Given the description of an element on the screen output the (x, y) to click on. 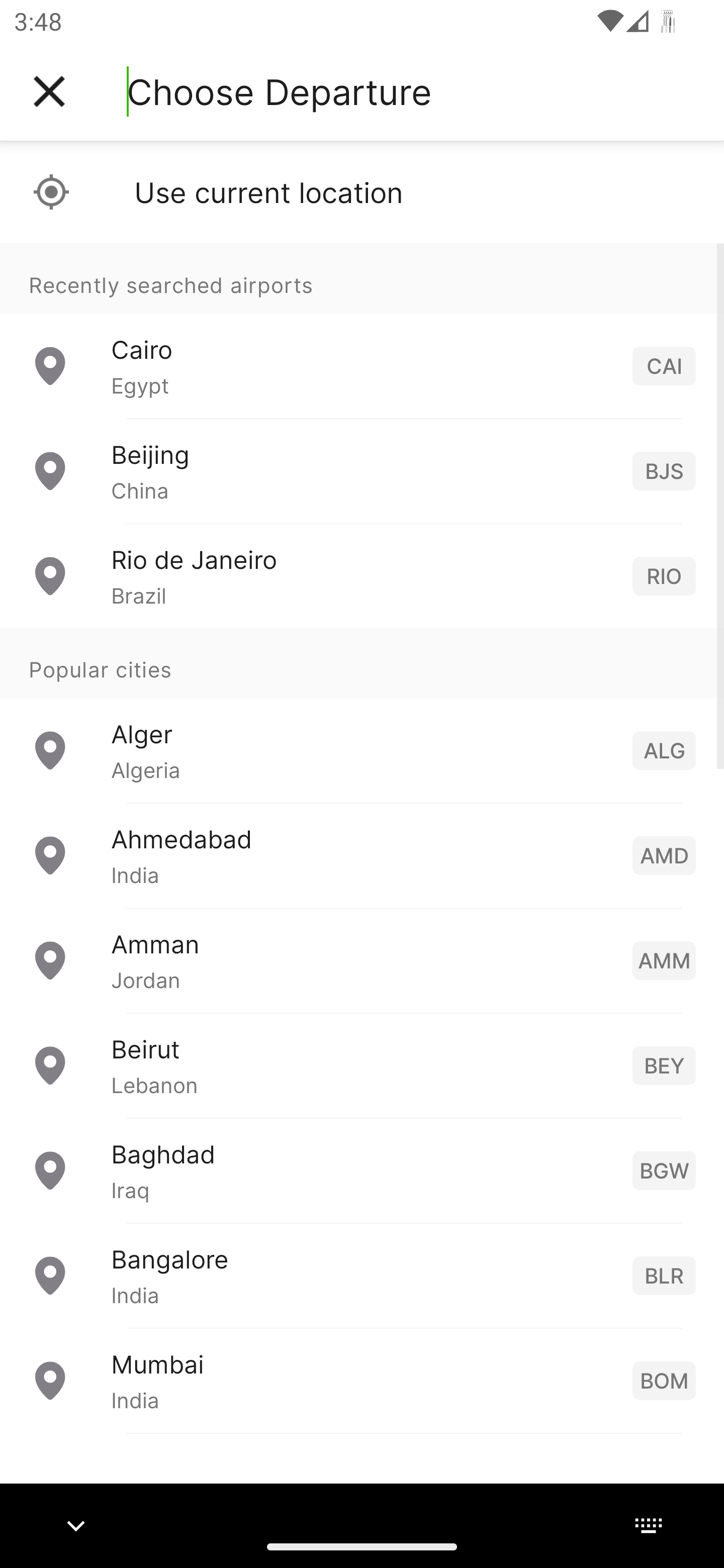
Choose Departure (279, 91)
Use current location (362, 192)
Recently searched airports Cairo Egypt CAI (362, 330)
Recently searched airports (362, 278)
Beijing China BJS (362, 470)
Rio de Janeiro Brazil RIO (362, 575)
Popular cities Alger Algeria ALG (362, 715)
Popular cities (362, 663)
Ahmedabad India AMD (362, 854)
Amman Jordan AMM (362, 959)
Beirut Lebanon BEY (362, 1064)
Baghdad Iraq BGW (362, 1170)
Bangalore India BLR (362, 1275)
Mumbai India BOM (362, 1380)
